Given the description of an element on the screen output the (x, y) to click on. 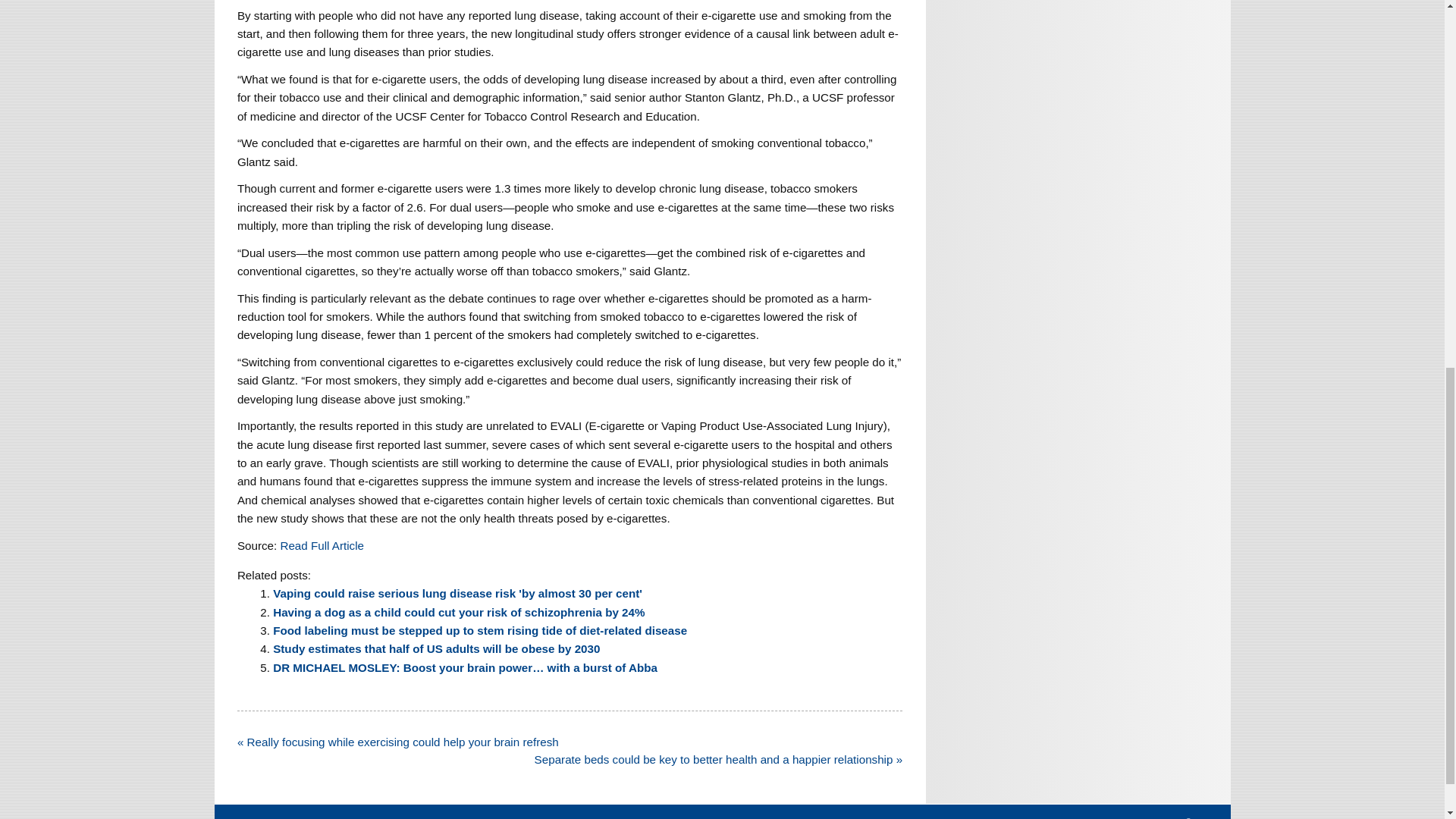
Study estimates that half of US adults will be obese by 2030 (436, 648)
Read Full Article (321, 545)
Study estimates that half of US adults will be obese by 2030 (436, 648)
